Given the description of an element on the screen output the (x, y) to click on. 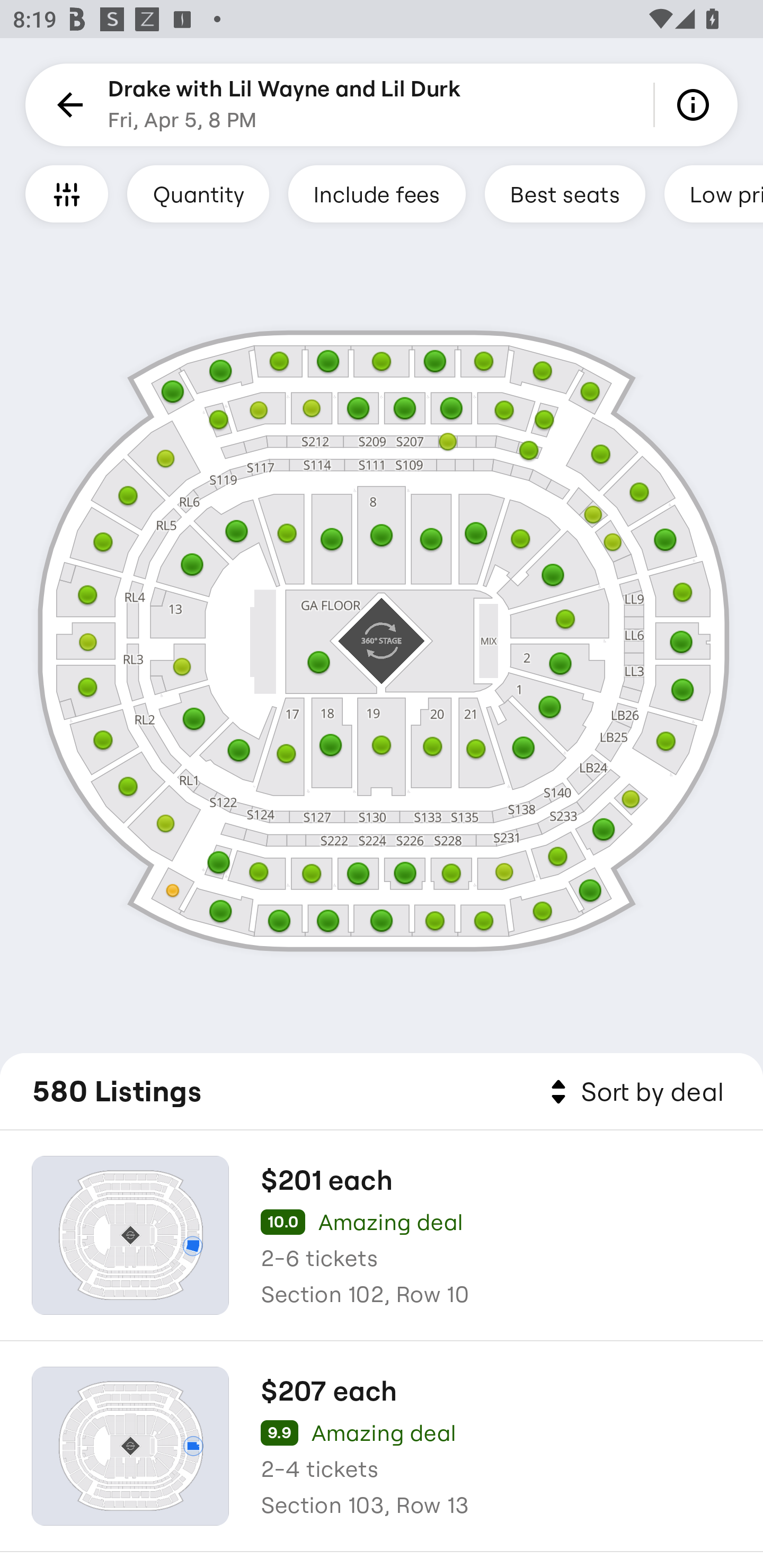
Back (66, 104)
Drake with Lil Wayne and Lil Durk Fri, Apr 5, 8 PM (284, 104)
Info (695, 104)
Filters and Accessible Seating (66, 193)
Quantity (198, 193)
Include fees (376, 193)
Best seats (564, 193)
Sort by deal (633, 1091)
